Given the description of an element on the screen output the (x, y) to click on. 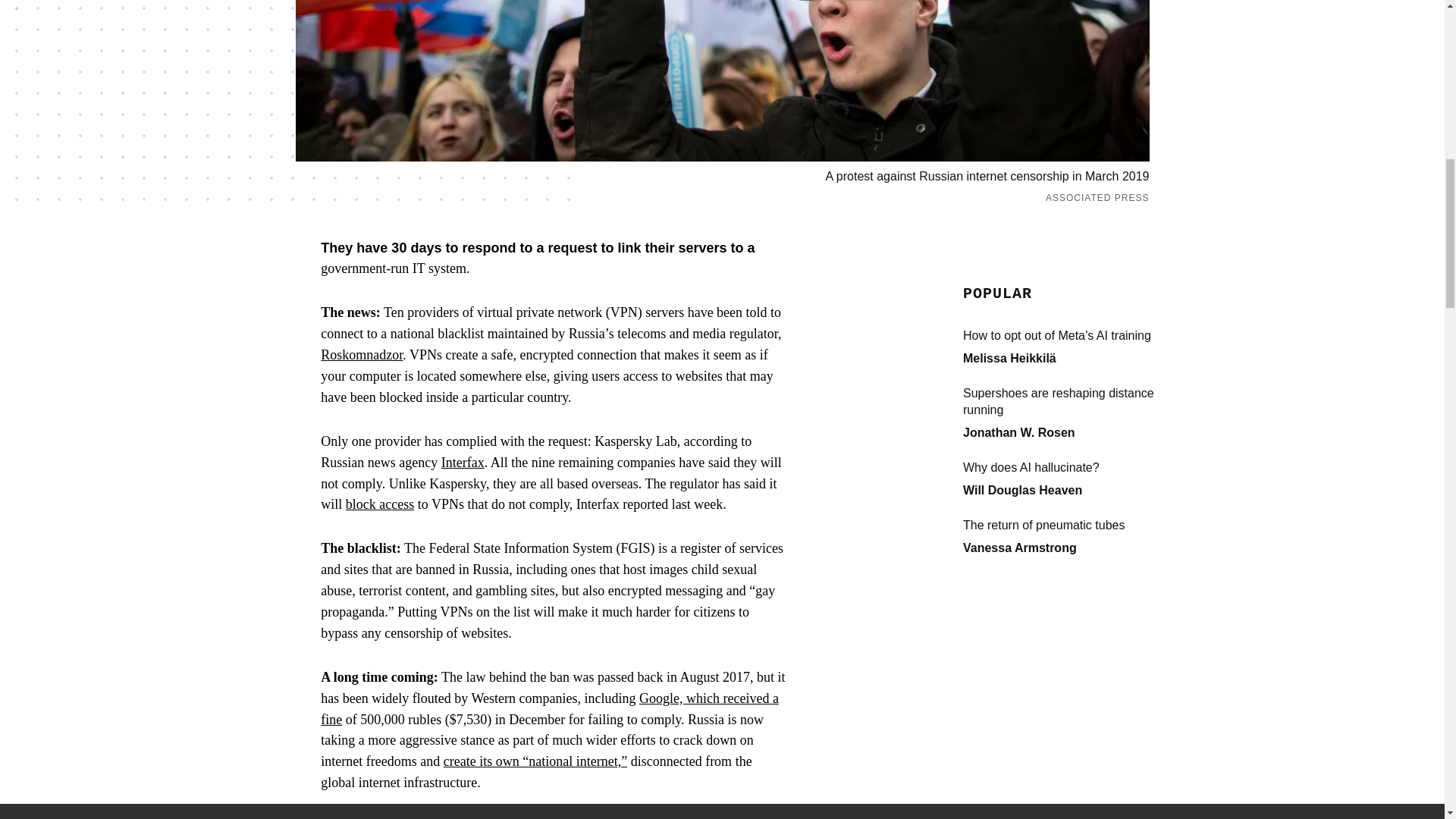
Roskomnadzor (361, 354)
Google, which received a fine (549, 709)
The return of pneumatic tubes (1075, 524)
block access (379, 503)
Jonathan W. Rosen (1018, 431)
Interfax (462, 462)
Why does AI hallucinate? (1075, 467)
Supershoes are reshaping distance running (1075, 401)
Will Douglas Heaven (1021, 490)
